Given the description of an element on the screen output the (x, y) to click on. 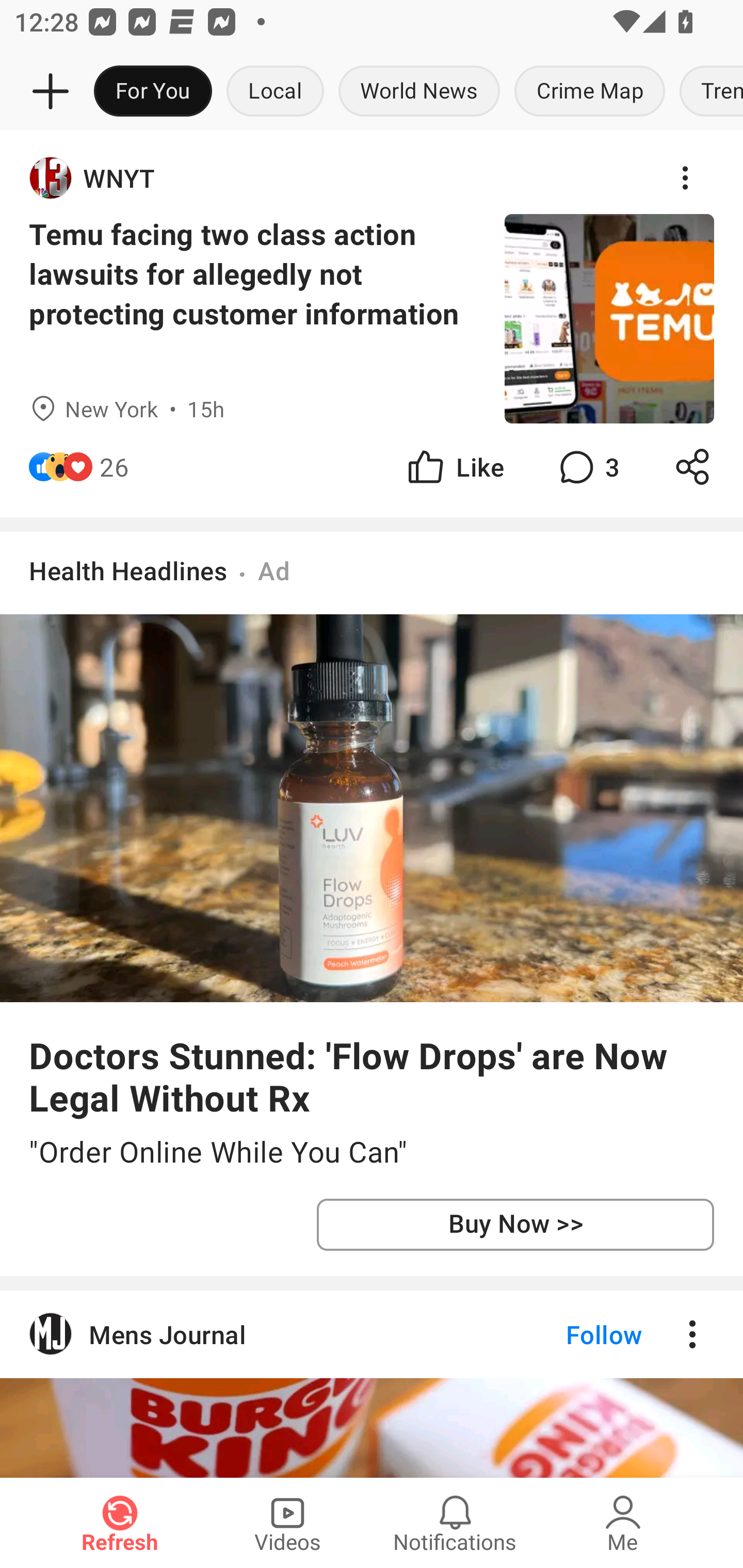
For You (152, 91)
Local (275, 91)
World News (419, 91)
Crime Map (589, 91)
26 (113, 466)
Like (454, 466)
3 (587, 466)
Health Headlines (127, 570)
"Order Online While You Can" (371, 1152)
Buy Now >> (515, 1224)
Mens Journal Follow (371, 1334)
Follow (569, 1334)
Videos (287, 1522)
Notifications (455, 1522)
Me (622, 1522)
